Given the description of an element on the screen output the (x, y) to click on. 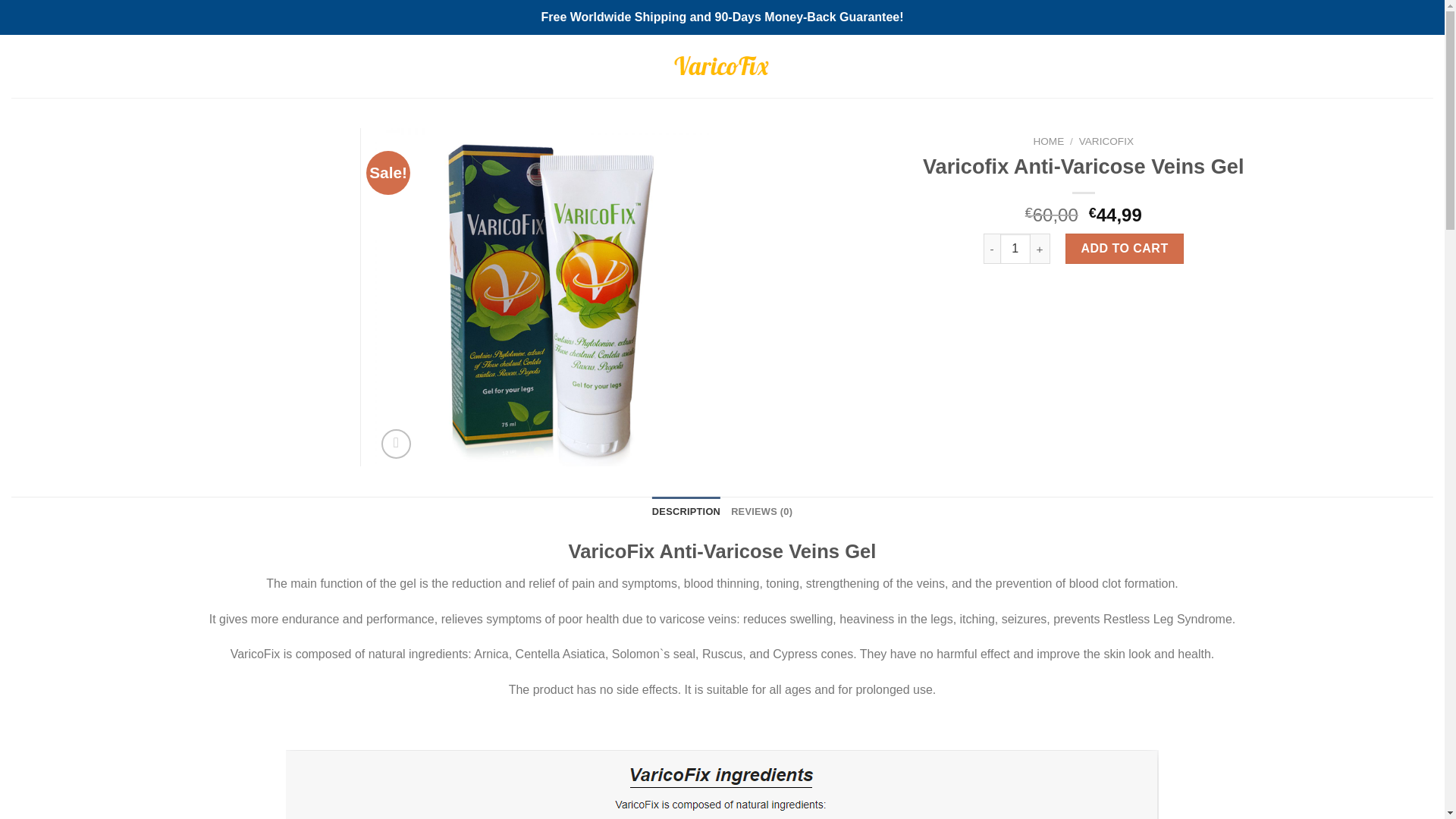
HOME (1048, 141)
VARICOFIX (1106, 141)
Qty (1015, 248)
ADD TO CART (1124, 248)
DESCRIPTION (686, 511)
1 (1015, 248)
Varicofix product - single (541, 296)
